Given the description of an element on the screen output the (x, y) to click on. 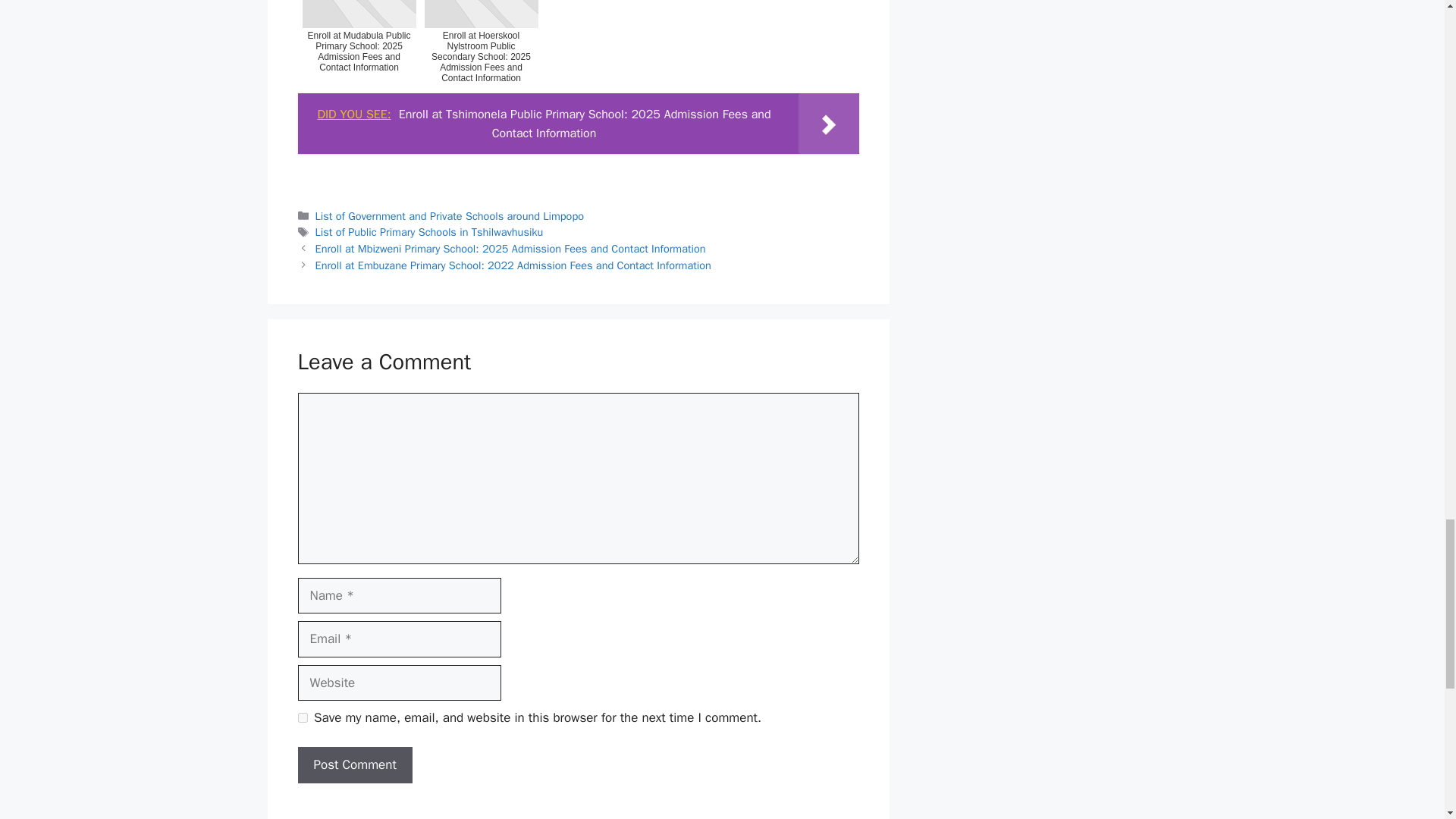
yes (302, 717)
List of Government and Private Schools around Limpopo (449, 215)
Post Comment (354, 764)
List of Public Primary Schools in Tshilwavhusiku (429, 232)
Post Comment (354, 764)
